Given the description of an element on the screen output the (x, y) to click on. 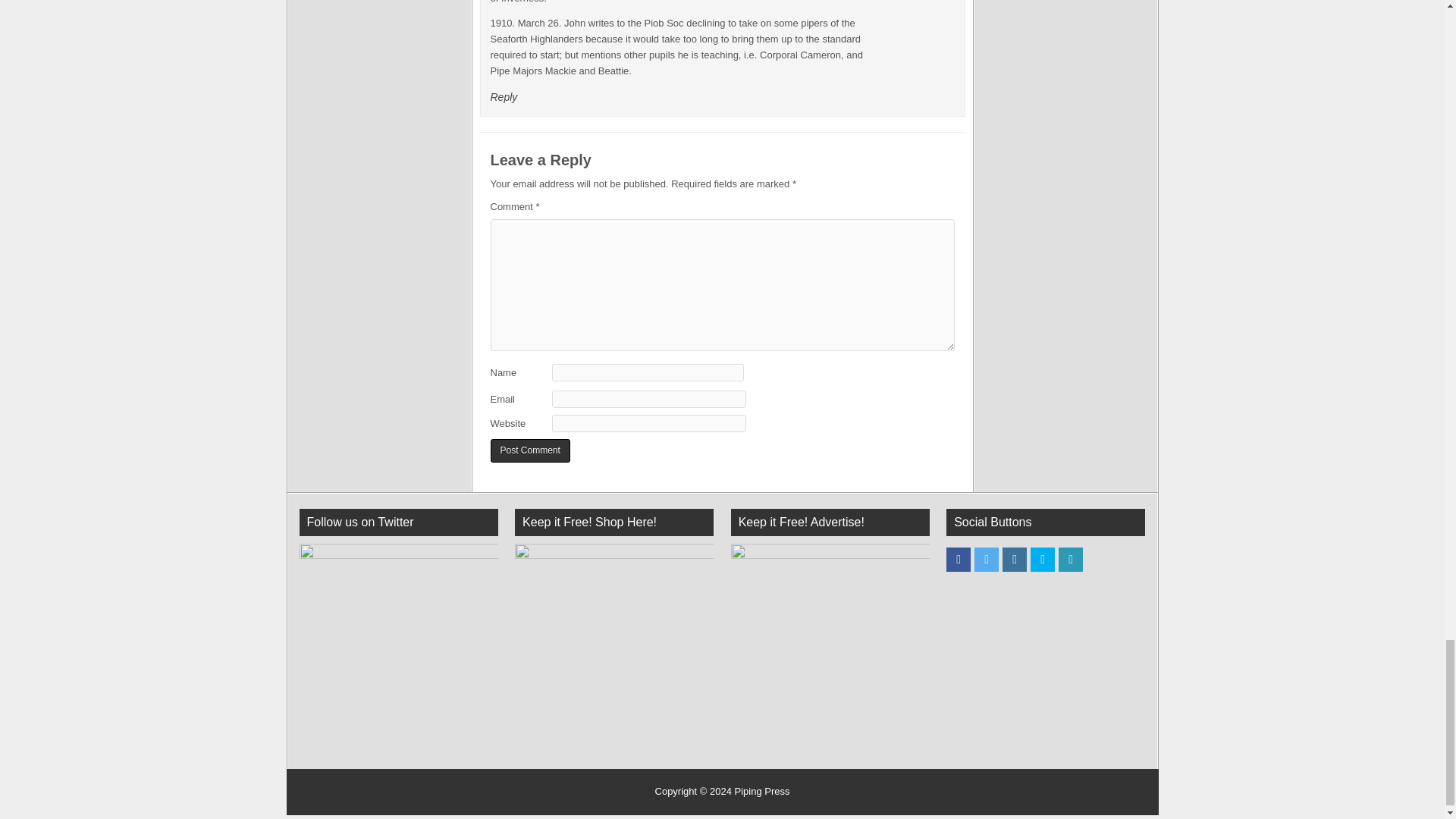
Post Comment (529, 450)
